Given the description of an element on the screen output the (x, y) to click on. 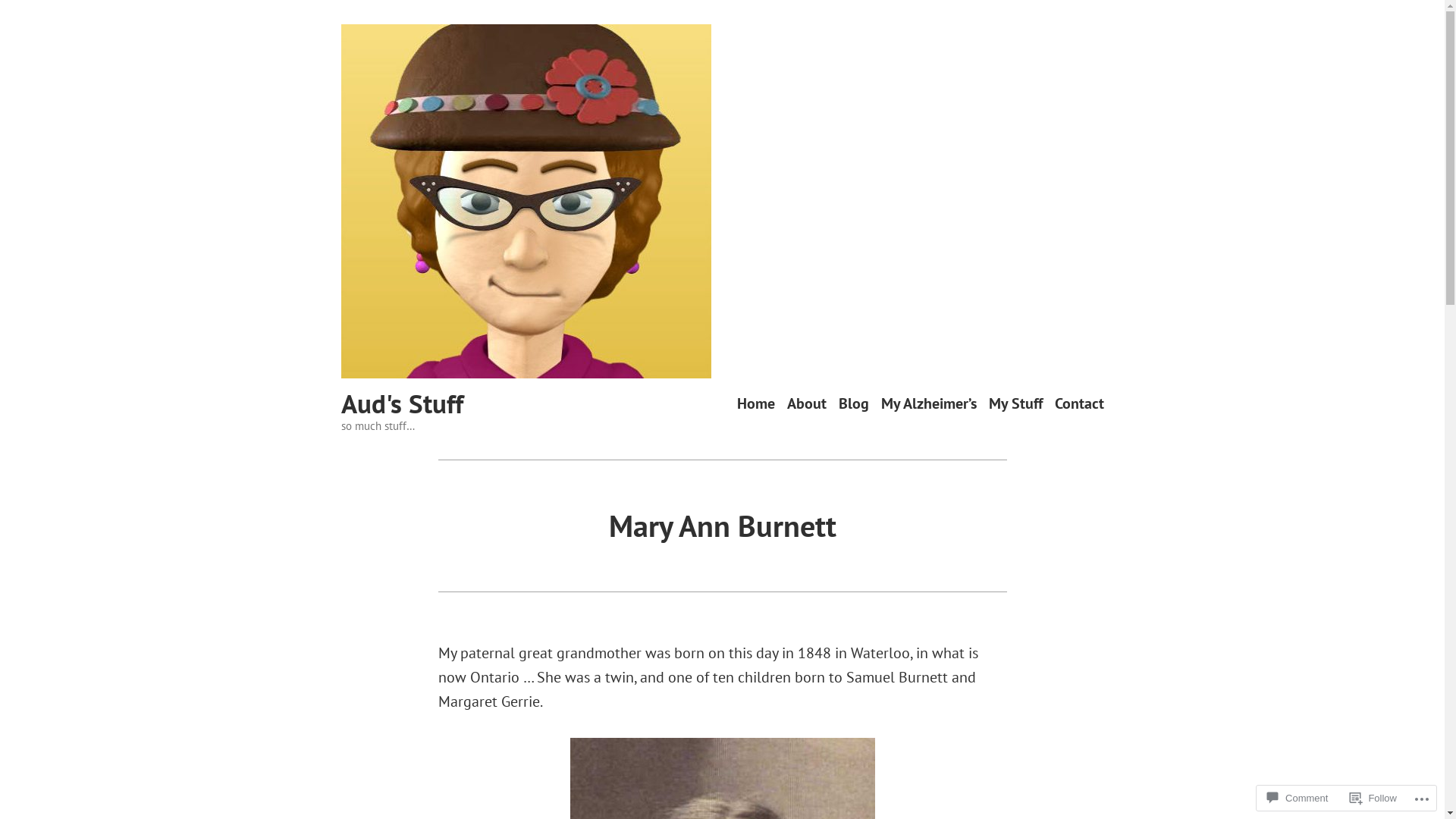
About Element type: text (806, 403)
Home Element type: text (756, 403)
My Stuff Element type: text (1015, 403)
Blog Element type: text (853, 403)
Follow Element type: text (1372, 797)
Comment Element type: text (1297, 797)
Contact Element type: text (1078, 403)
Aud's Stuff Element type: text (402, 402)
